Given the description of an element on the screen output the (x, y) to click on. 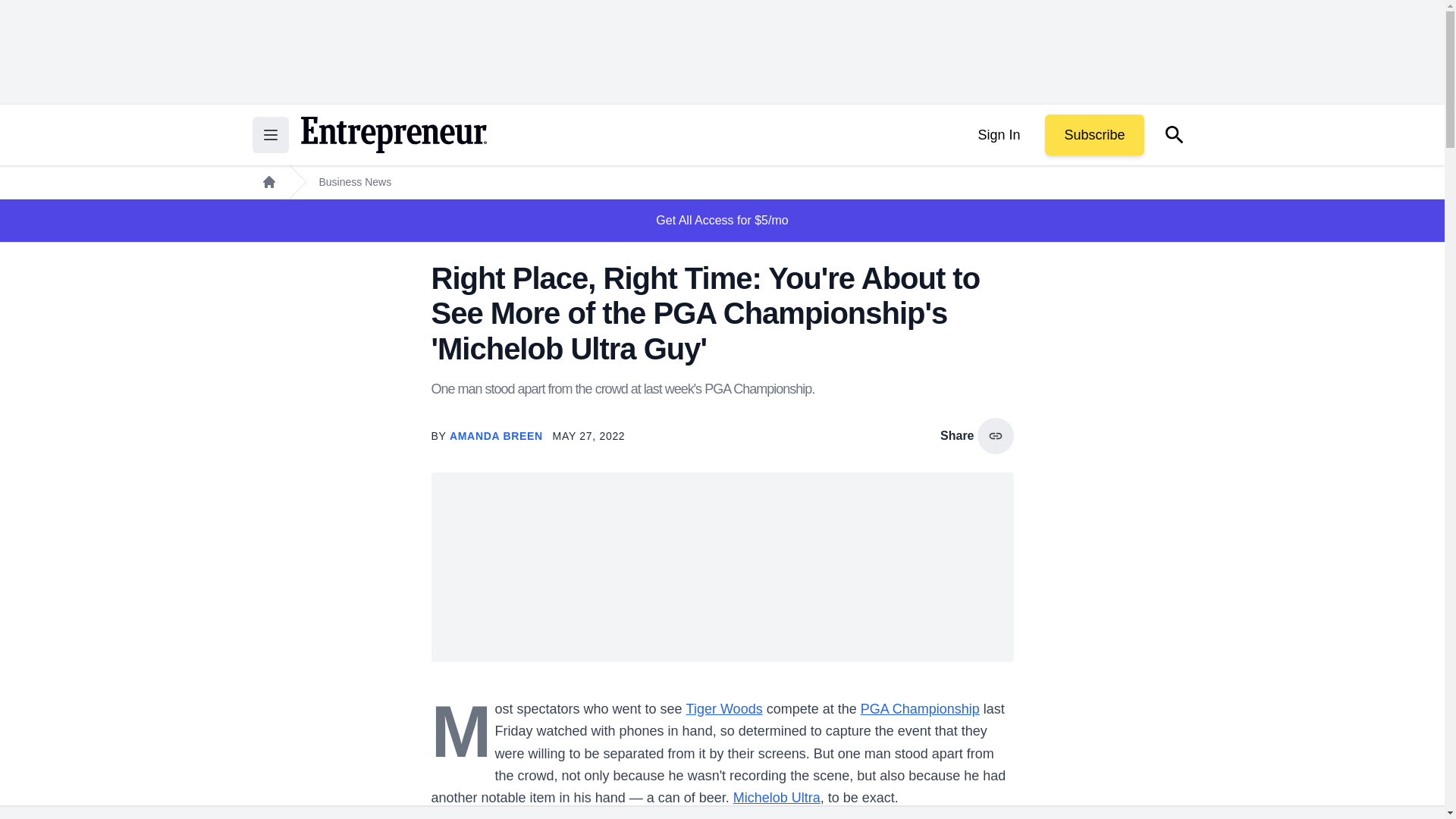
Subscribe (1093, 134)
Return to the home page (392, 135)
copy (994, 435)
Sign In (998, 134)
